Given the description of an element on the screen output the (x, y) to click on. 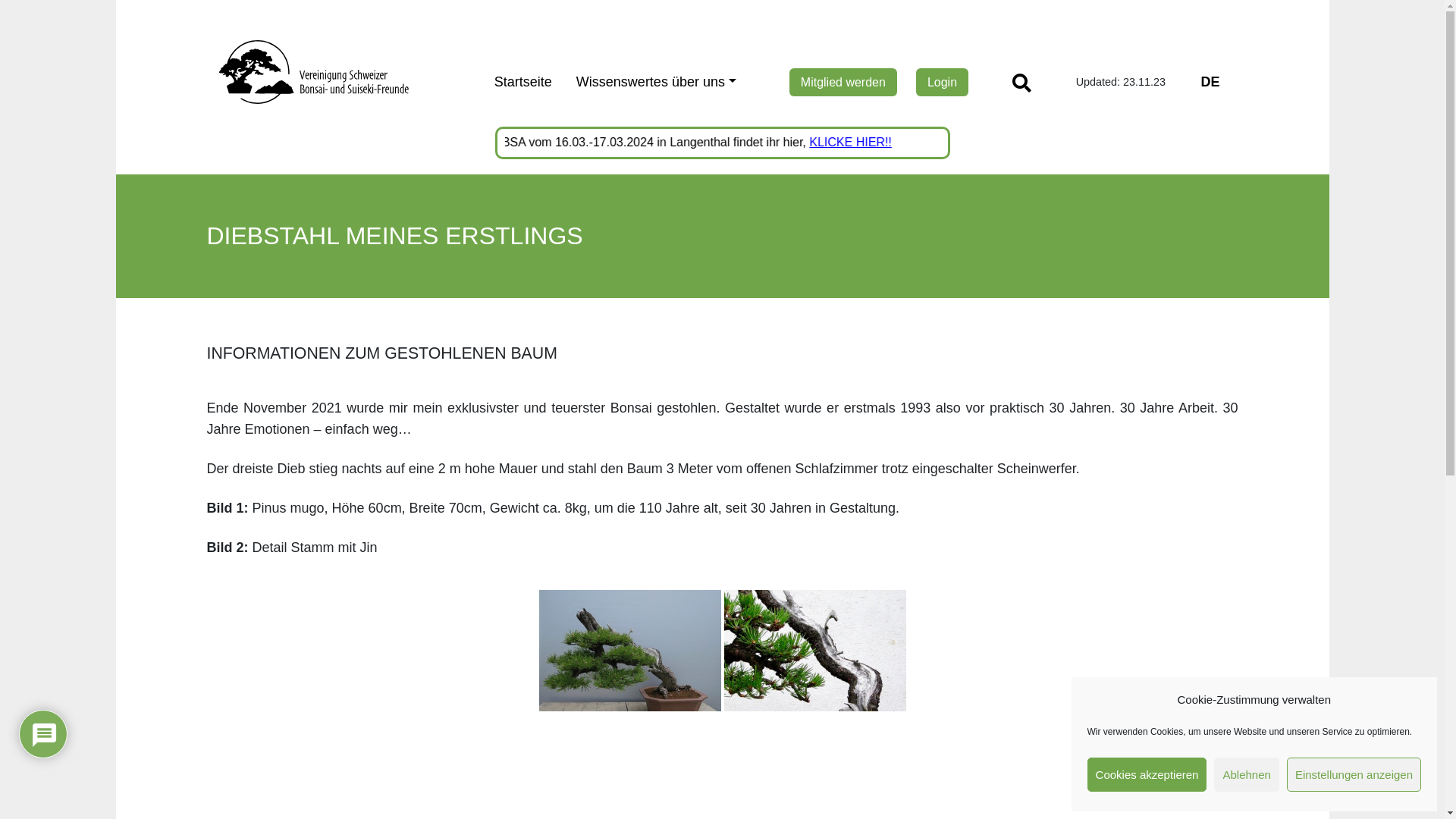
Mitglied werden Element type: text (843, 82)
DE Element type: text (1209, 82)
Login Element type: text (942, 82)
Detail Stamm mit Jin Element type: hover (814, 650)
Ablehnen Element type: text (1246, 774)
Startseite Element type: text (523, 81)
Einstellungen anzeigen Element type: text (1353, 774)
Cookies akzeptieren Element type: text (1147, 774)
KLICKE HIER!! Element type: text (881, 141)
